Given the description of an element on the screen output the (x, y) to click on. 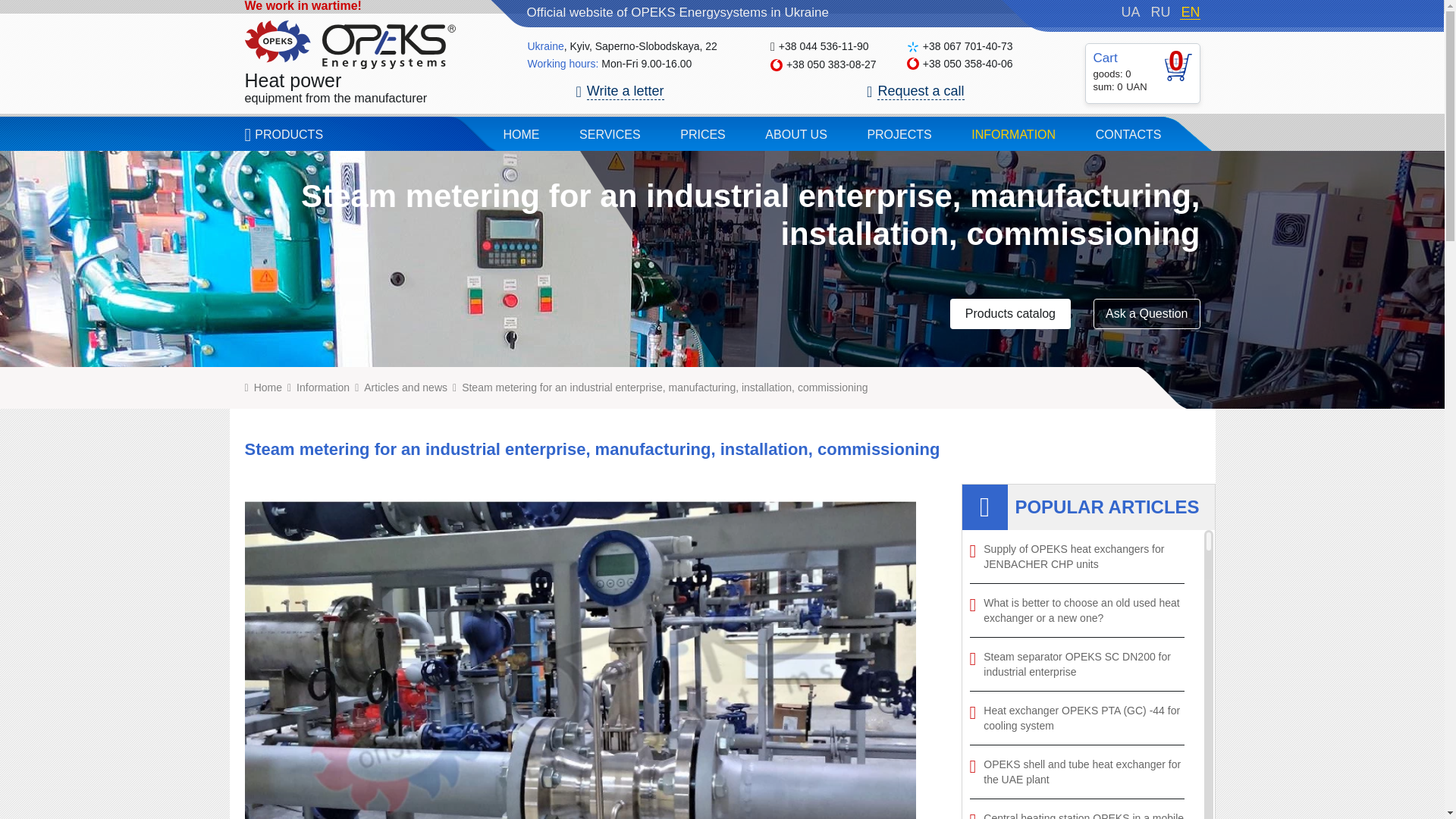
ABOUT US (796, 134)
HOME (521, 134)
EN (1189, 11)
CONTACTS (1128, 134)
PRICES (702, 134)
PROJECTS (349, 62)
SERVICES (899, 134)
Request a call (609, 134)
english (914, 92)
Write a letter (1189, 11)
RU (619, 92)
INFORMATION (1160, 11)
PRODUCTS (1013, 134)
Go to cart (287, 134)
